Given the description of an element on the screen output the (x, y) to click on. 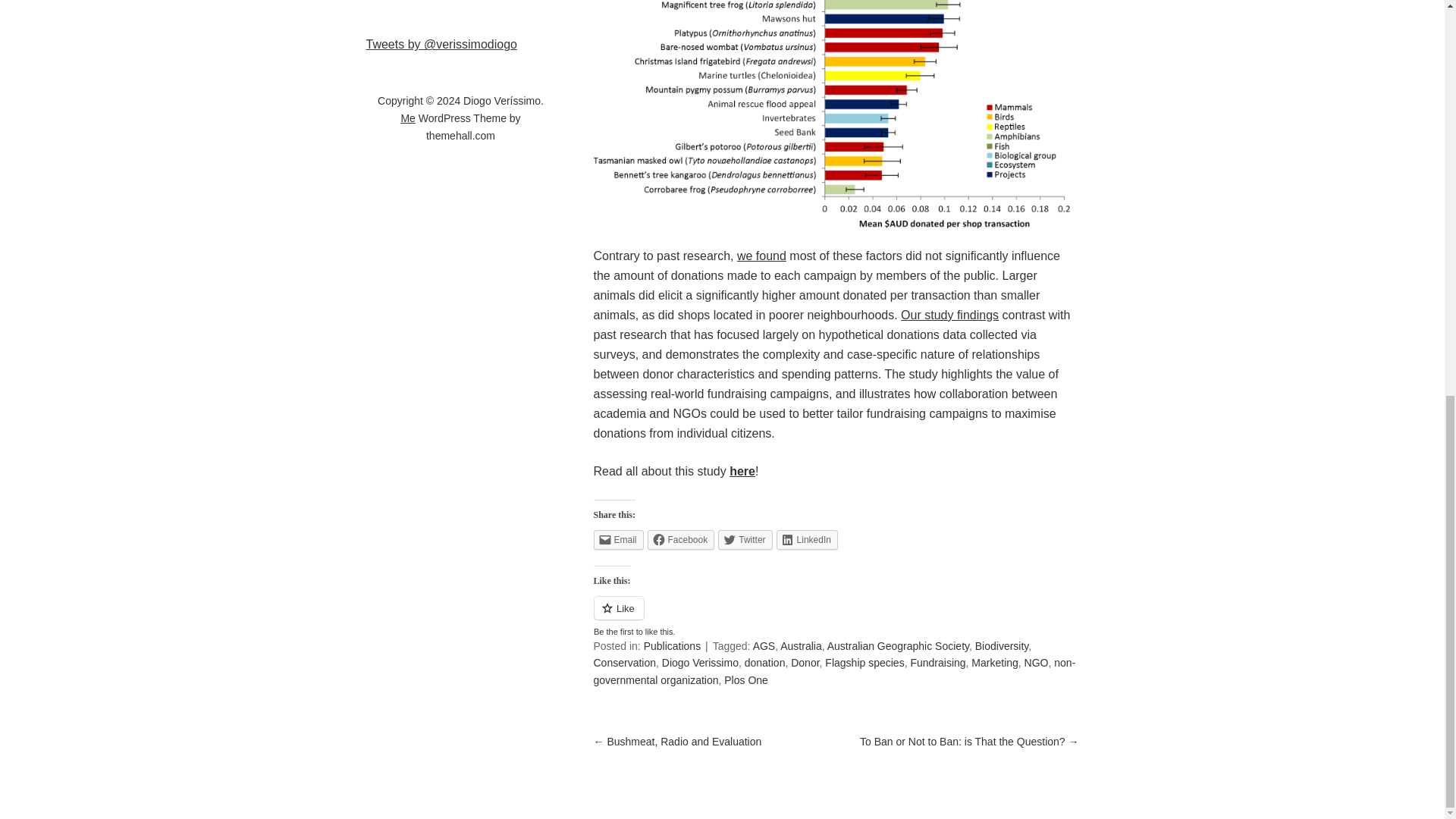
Australia (800, 645)
Conservation (624, 662)
donation (765, 662)
Click to share on Twitter (744, 539)
AGS (764, 645)
Marketing (994, 662)
we found (761, 255)
Donor (804, 662)
Fundraising (937, 662)
LinkedIn (807, 539)
NGO (1036, 662)
Flagship species (864, 662)
Email (617, 539)
Click to share on Facebook (680, 539)
Diogo Verissimo (700, 662)
